Given the description of an element on the screen output the (x, y) to click on. 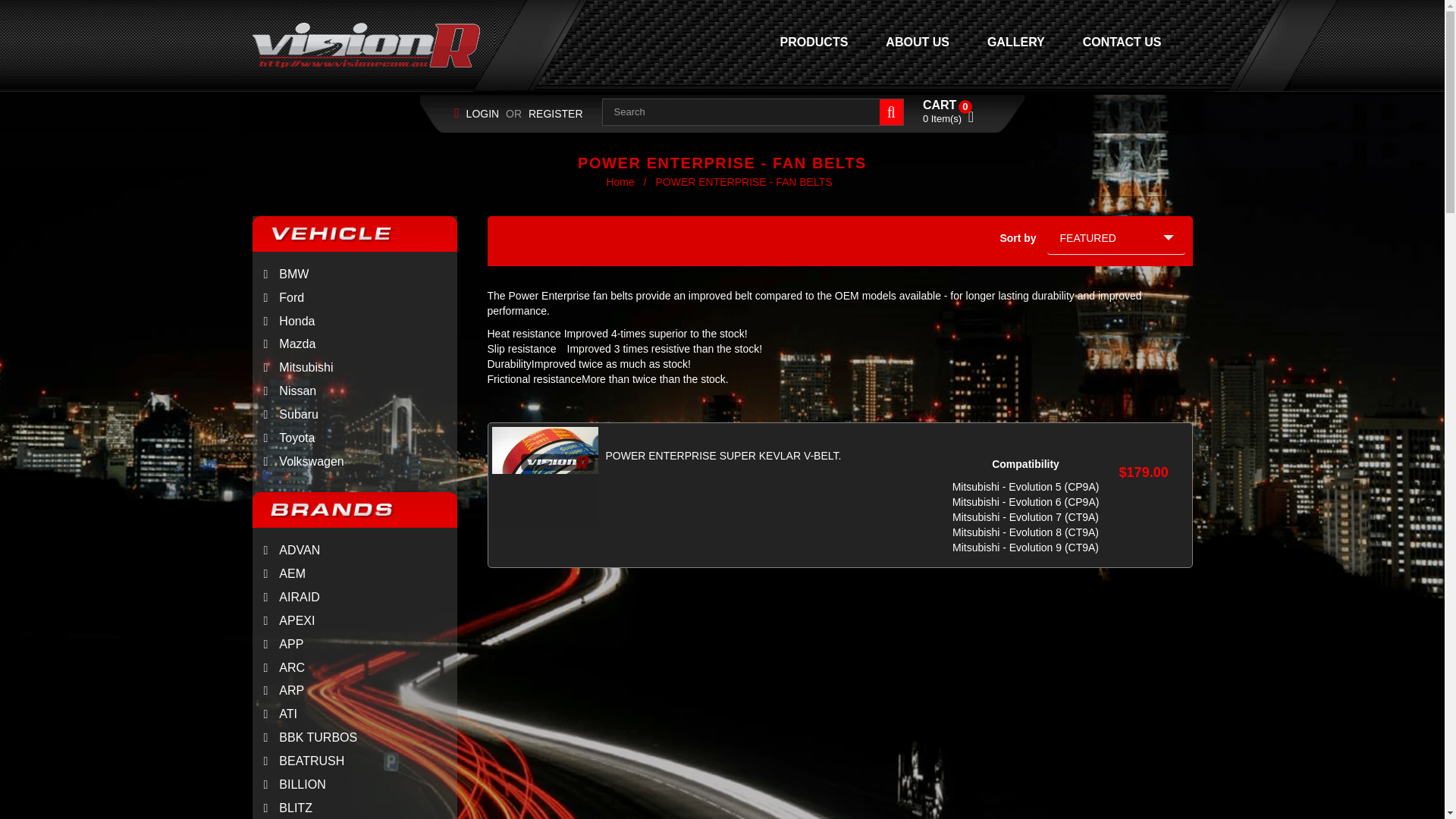
Mitsubishi (292, 367)
AEM (354, 574)
BEATRUSH (354, 761)
Volkswagen (297, 461)
Toyota (282, 437)
ARC (354, 668)
AIRAID (354, 597)
BILLION (354, 784)
Home (621, 182)
BMW (279, 273)
APEXI (354, 620)
Subaru (284, 413)
Honda (282, 320)
LOGIN (482, 113)
CONTACT US (1122, 42)
